Given the description of an element on the screen output the (x, y) to click on. 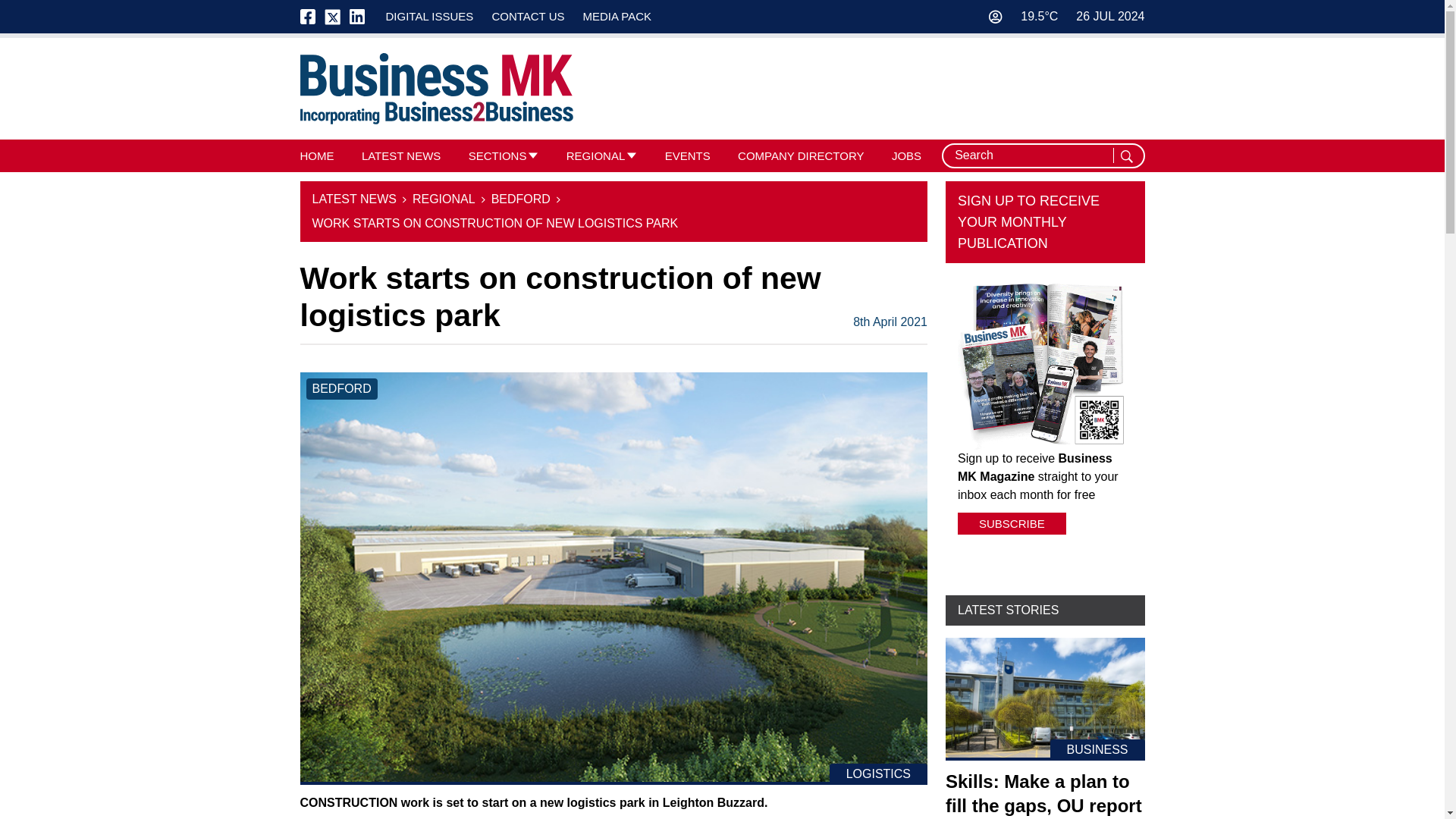
Home (436, 88)
Go to the Regional Category archives. (444, 198)
DIGITAL ISSUES (429, 15)
Business mk on LinkedIn (356, 16)
CONTACT US (528, 15)
Business MK on Twitter (332, 17)
REGIONAL (596, 155)
Search (1128, 155)
Business MK on Facebook (311, 16)
See all logistics (878, 773)
Go to the Bedford Category archives. (521, 198)
See all bedford (341, 388)
LATEST NEWS (401, 155)
Search (1128, 155)
HOME (316, 155)
